Given the description of an element on the screen output the (x, y) to click on. 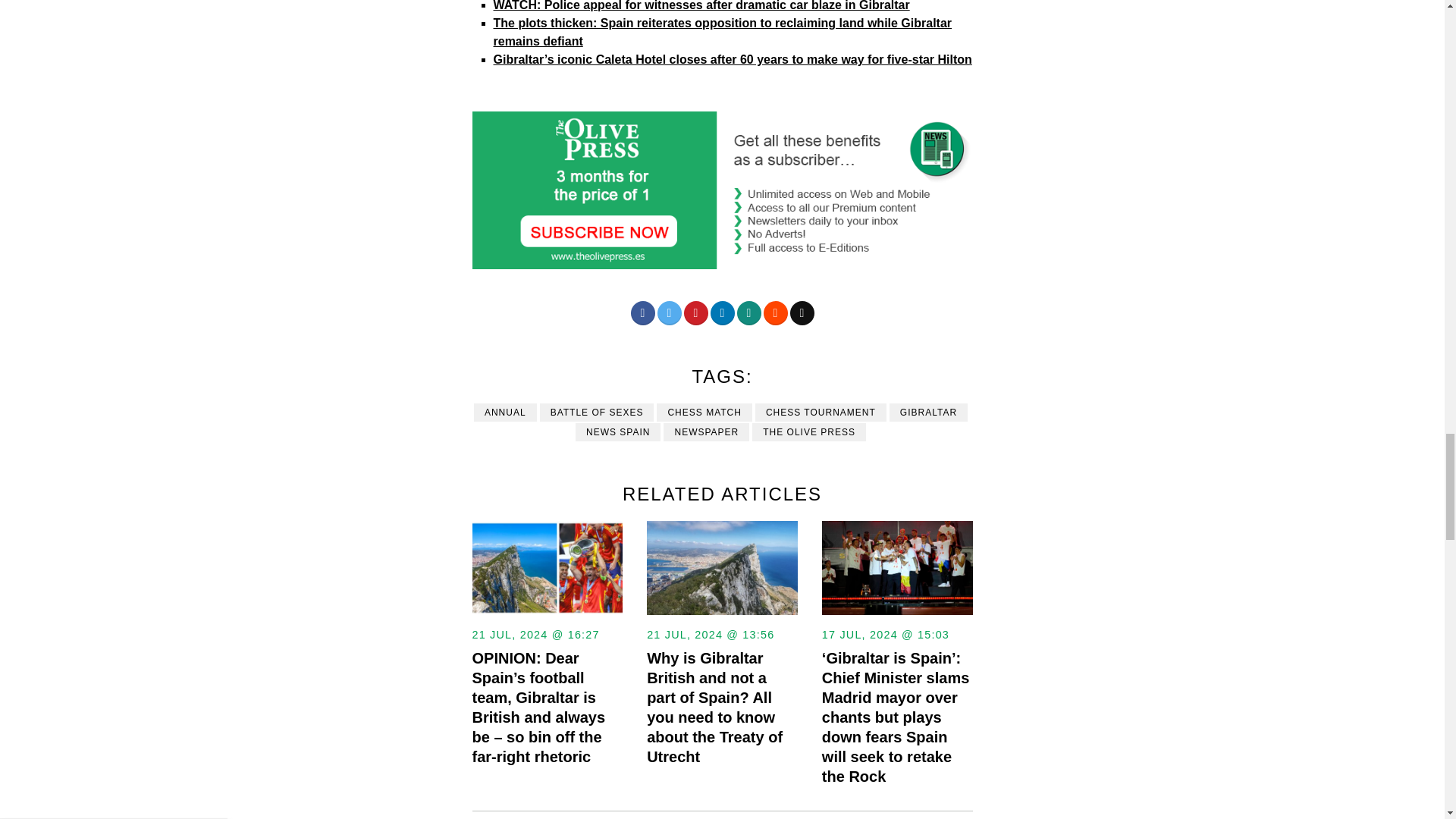
21 Jul, 2024 16:03:27 (534, 634)
17 Jul, 2024 15:11:03 (885, 634)
21 Jul, 2024 13:18:56 (710, 634)
